Given the description of an element on the screen output the (x, y) to click on. 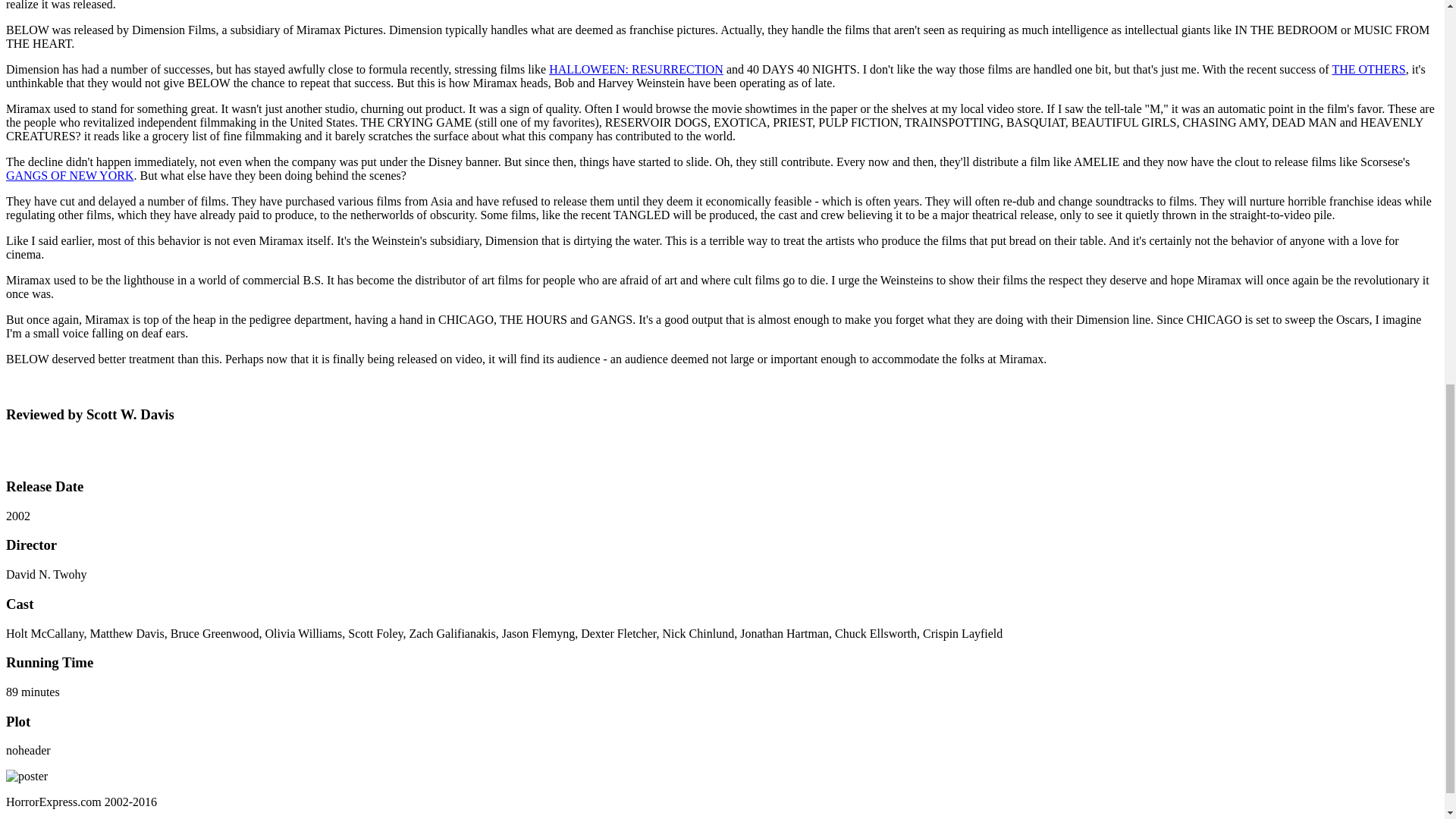
HALLOWEEN: RESURRECTION (635, 69)
THE OTHERS (1368, 69)
GANGS OF NEW YORK (69, 174)
